Given the description of an element on the screen output the (x, y) to click on. 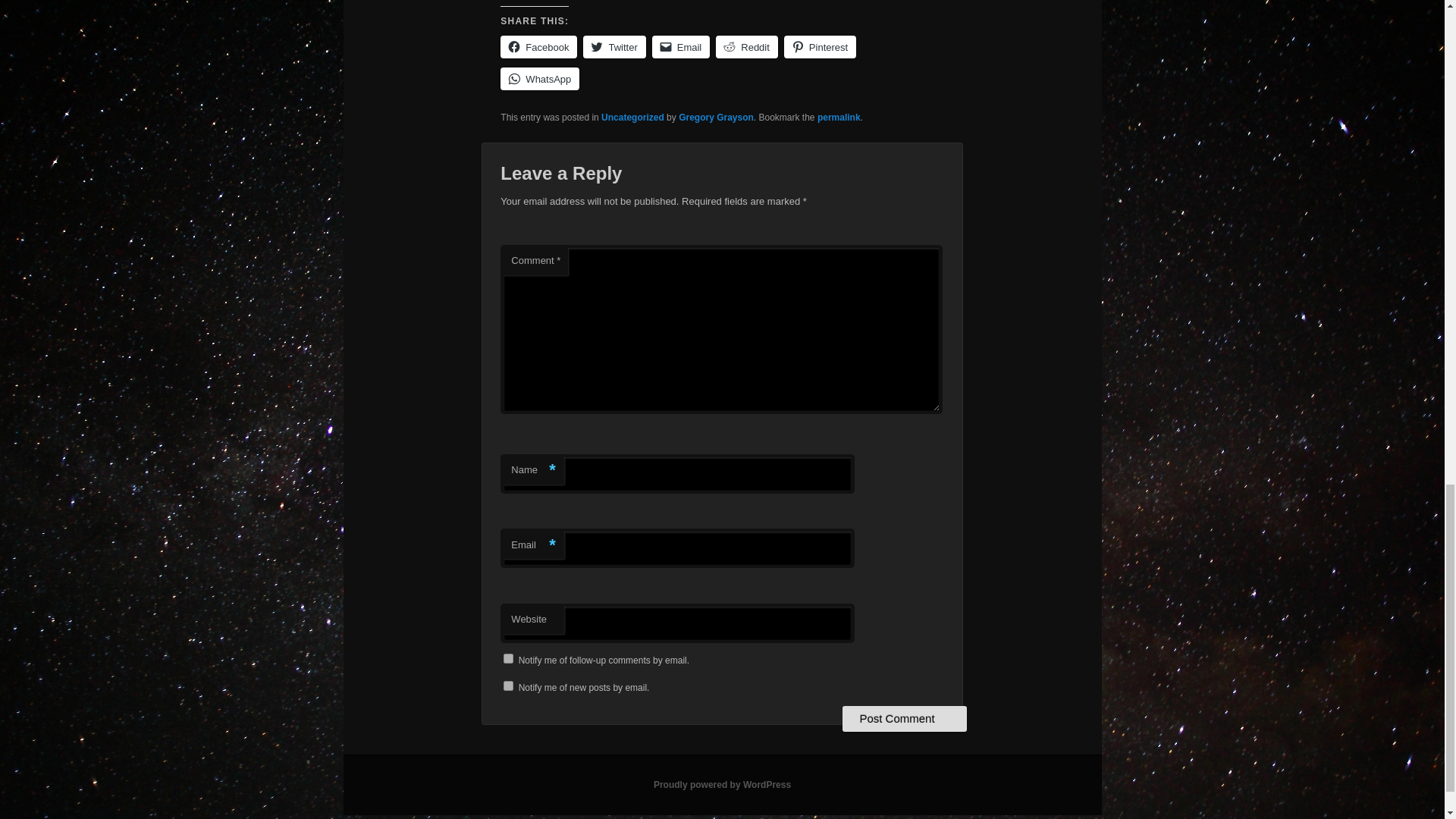
Uncategorized (632, 117)
subscribe (508, 658)
Pinterest (820, 47)
Reddit (746, 47)
Gregory Grayson (716, 117)
Facebook (538, 47)
Email (681, 47)
Semantic Personal Publishing Platform (721, 784)
Click to share on Reddit (746, 47)
Click to share on WhatsApp (539, 78)
Click to share on Facebook (538, 47)
Post Comment (904, 718)
WhatsApp (539, 78)
Twitter (614, 47)
Click to share on Pinterest (820, 47)
